Given the description of an element on the screen output the (x, y) to click on. 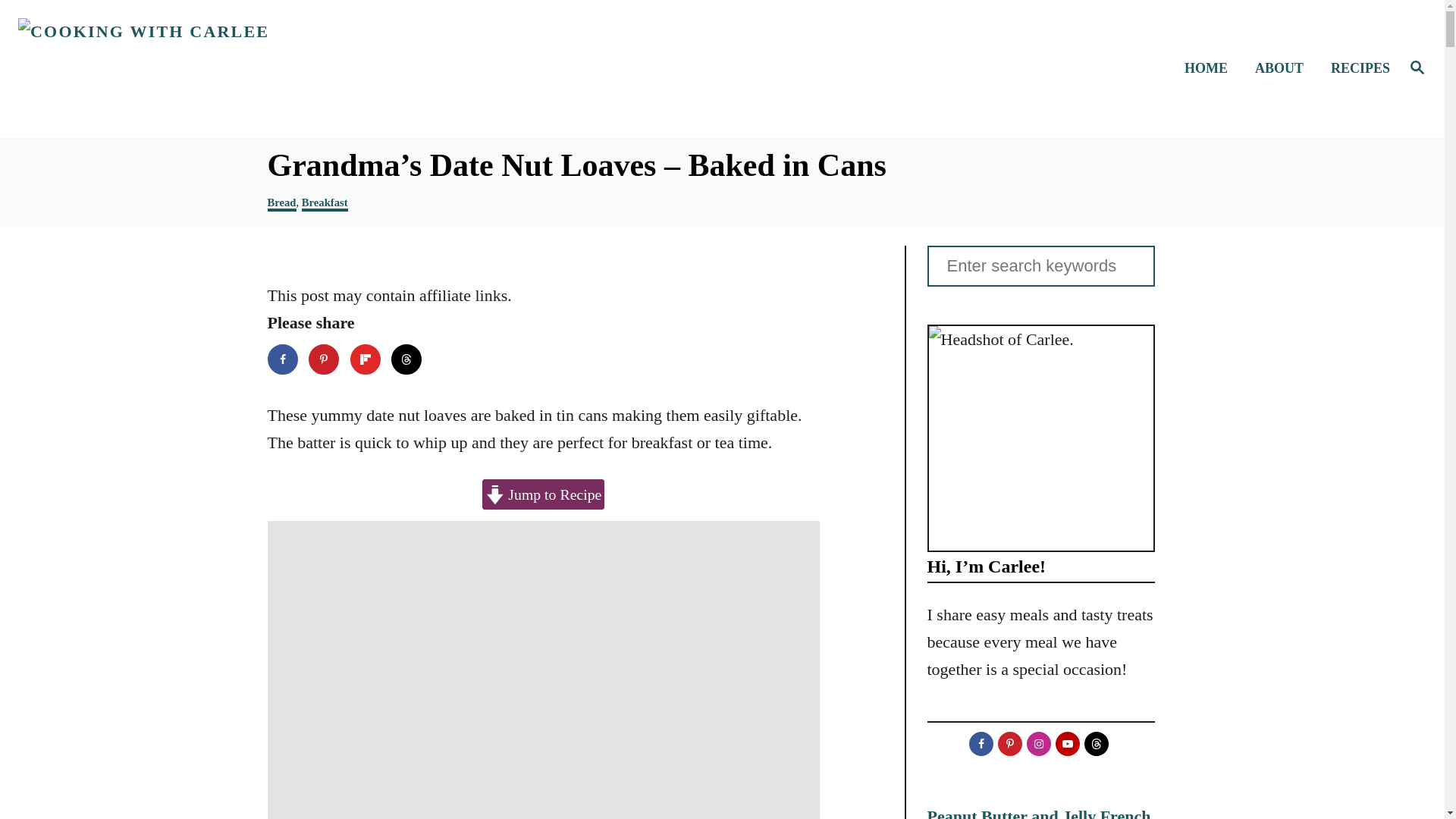
Breakfast (324, 203)
Share on Threads (406, 358)
Cooking With Carlee (187, 68)
Jump to Recipe (543, 494)
Save to Pinterest (323, 358)
Share on Flipboard (365, 358)
Magnifying Glass (1416, 67)
HOME (1210, 68)
RECIPES (1356, 68)
